Given the description of an element on the screen output the (x, y) to click on. 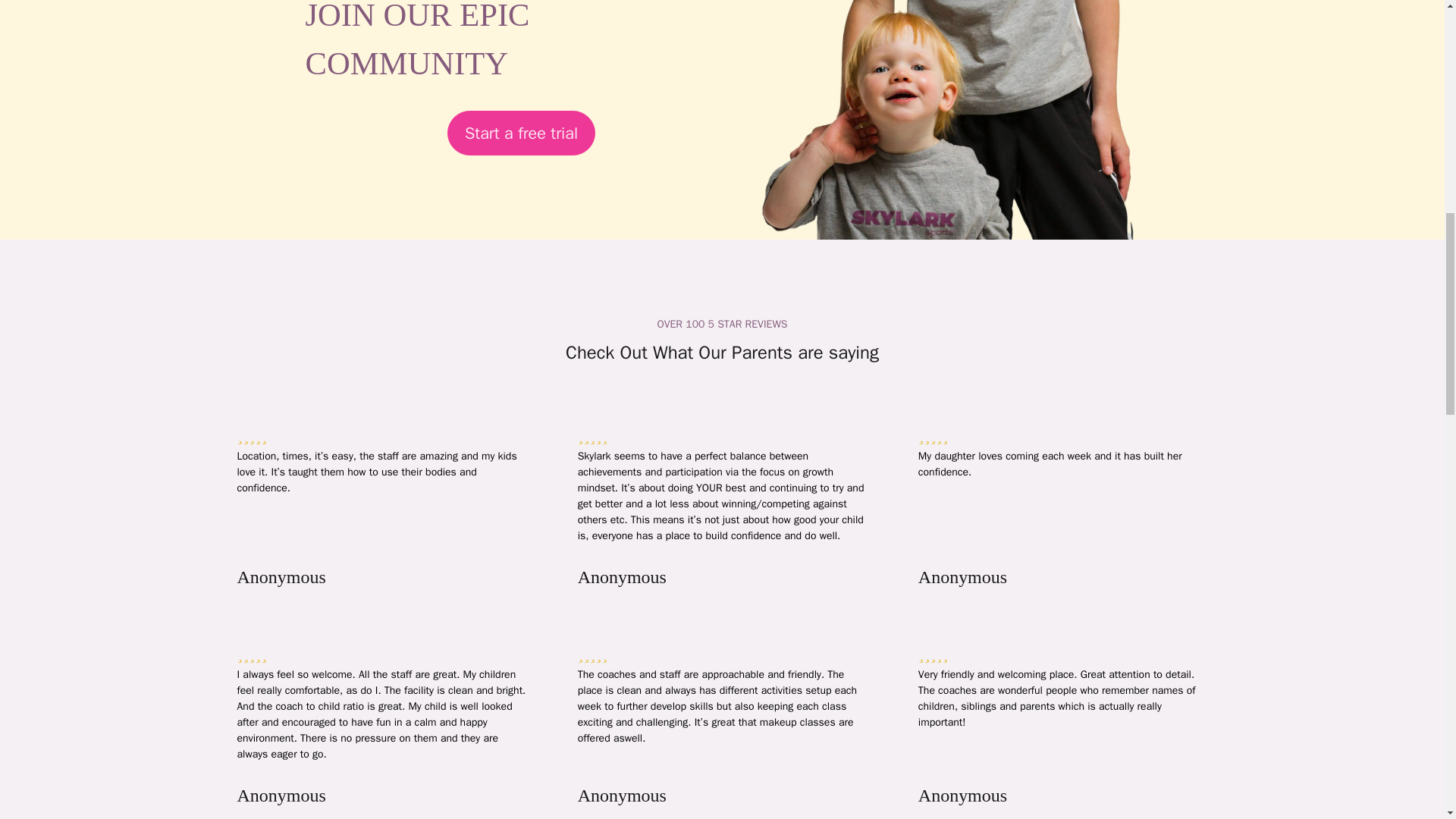
Start a free trial (520, 132)
